Given the description of an element on the screen output the (x, y) to click on. 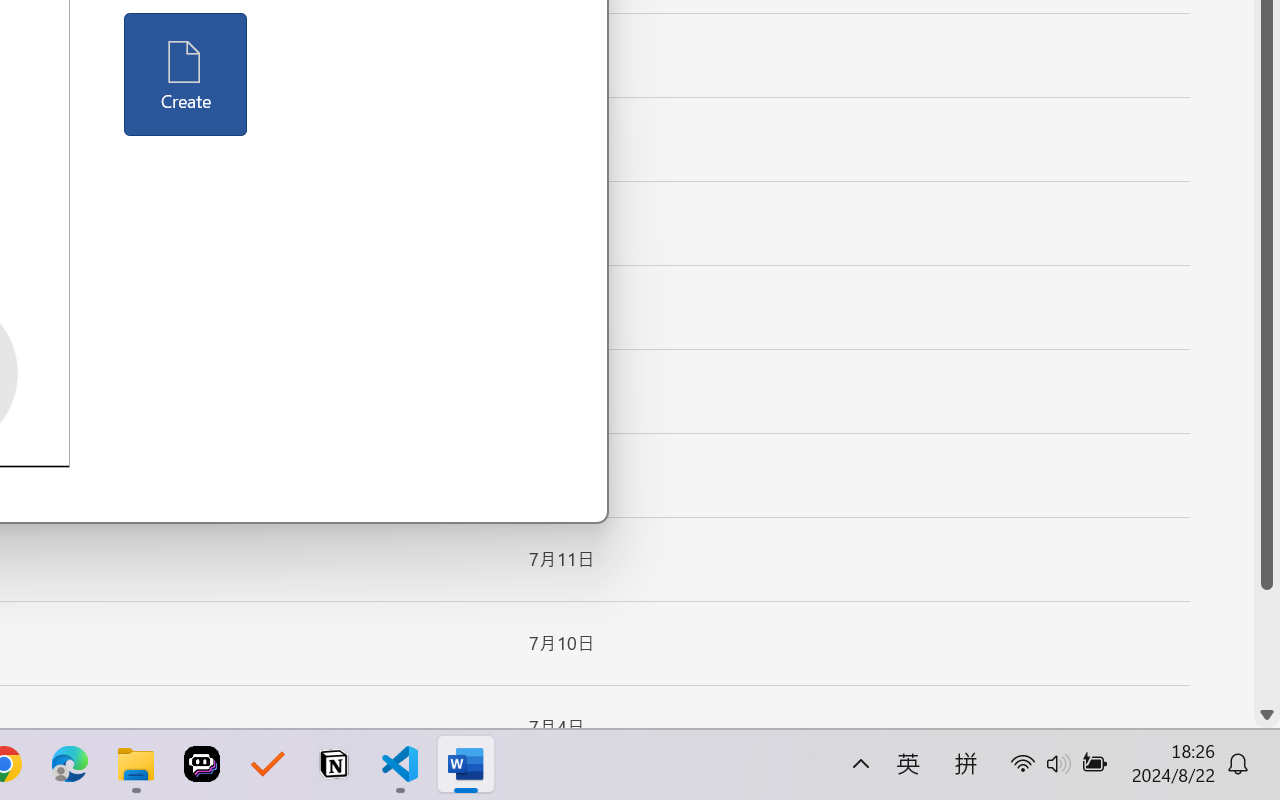
Create (185, 74)
Line down (1267, 715)
Pin this item to the list (480, 727)
Page down (1267, 646)
